Given the description of an element on the screen output the (x, y) to click on. 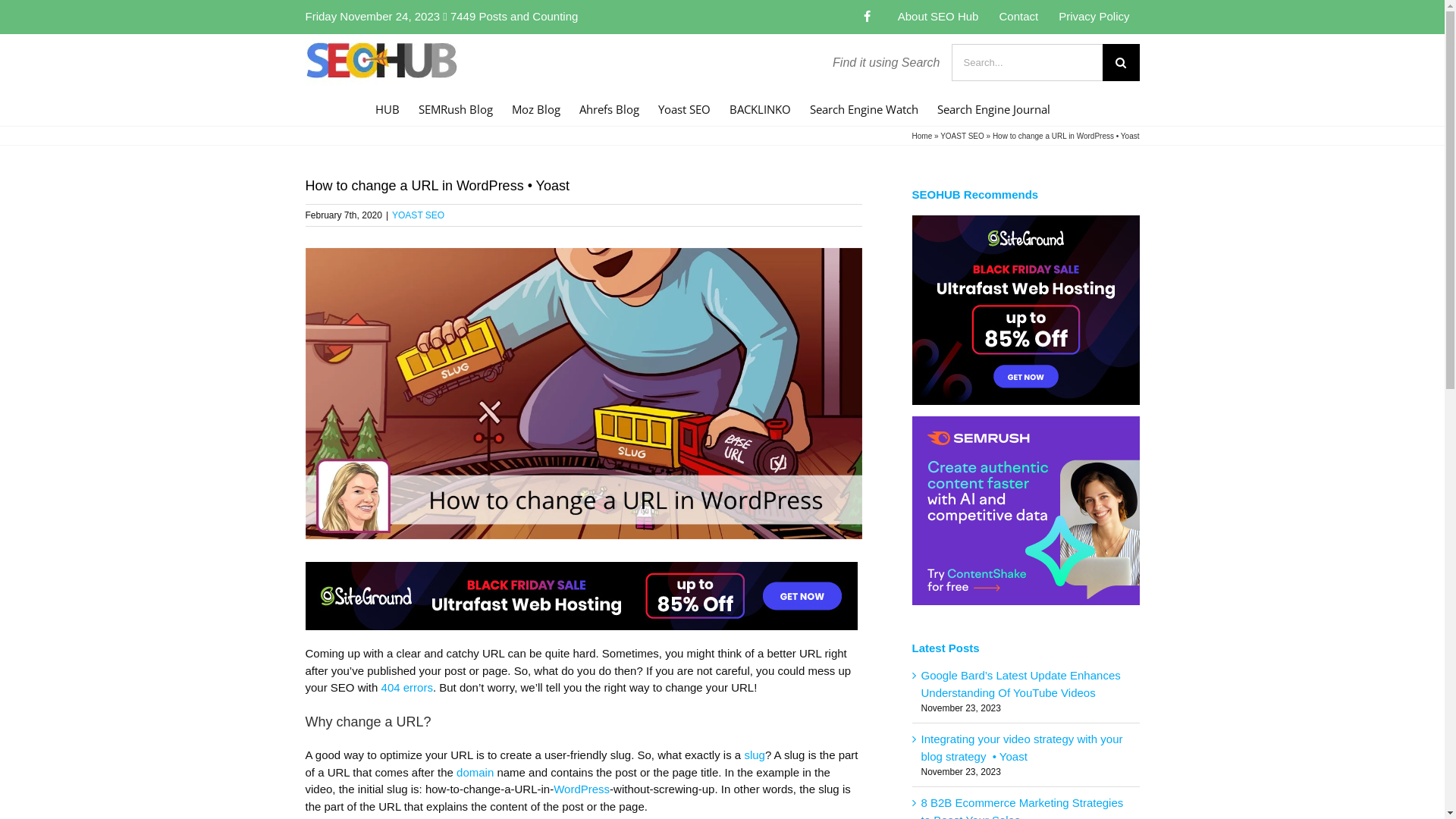
Search Engine Journal Element type: text (993, 108)
HUB Element type: text (387, 108)
404 errors Element type: text (407, 686)
domain Element type: text (474, 771)
Privacy Policy Element type: text (1093, 16)
View Larger Image Element type: text (582, 393)
Contact Element type: text (1018, 16)
About SEO Hub Element type: text (938, 16)
Yoast SEO Element type: text (684, 108)
SEOHUB at Facebook Element type: hover (867, 16)
slug Element type: text (754, 754)
Home Element type: text (922, 135)
YOAST SEO Element type: text (962, 135)
Moz Blog Element type: text (535, 108)
WordPress Element type: text (581, 788)
SEMRush Blog Element type: text (455, 108)
BACKLINKO Element type: text (759, 108)
Ahrefs Blog Element type: text (609, 108)
Search Engine Watch Element type: text (863, 108)
YOAST SEO Element type: text (418, 215)
